Given the description of an element on the screen output the (x, y) to click on. 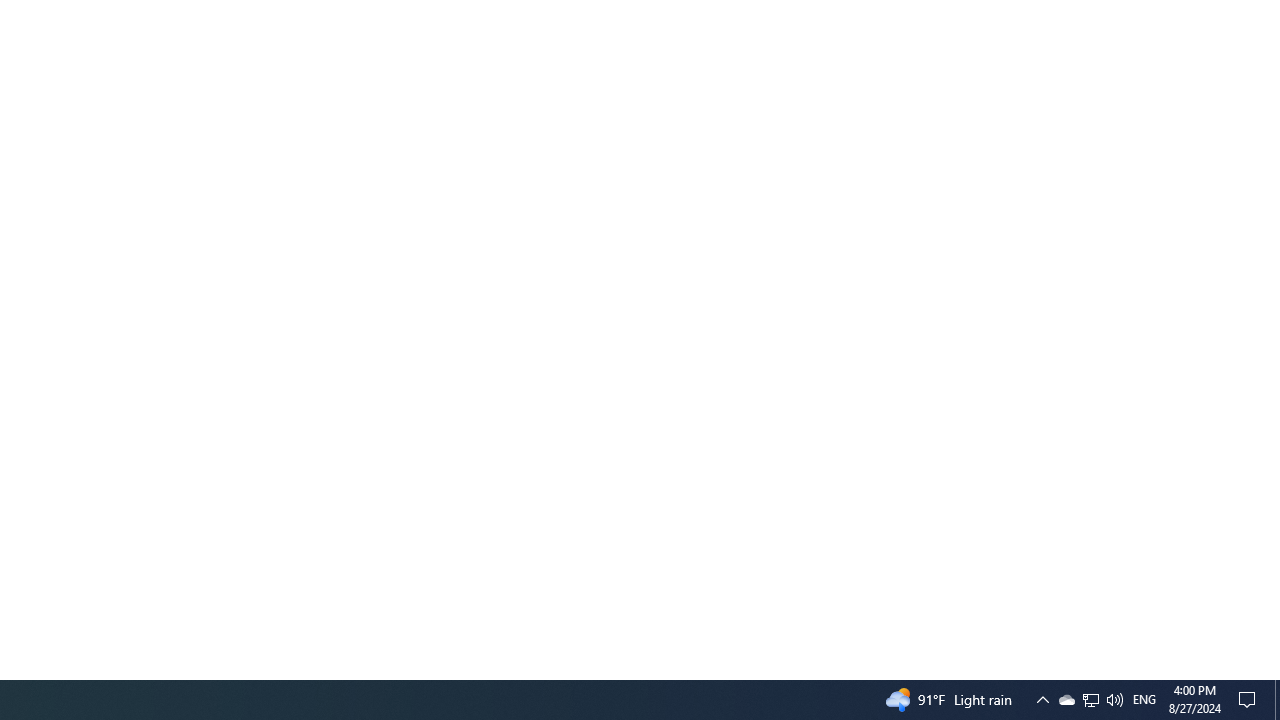
Q2790: 100% (1114, 699)
Notification Chevron (1042, 699)
Action Center, No new notifications (1250, 699)
Tray Input Indicator - English (United States) (1091, 699)
Show desktop (1144, 699)
User Promoted Notification Area (1277, 699)
